Given the description of an element on the screen output the (x, y) to click on. 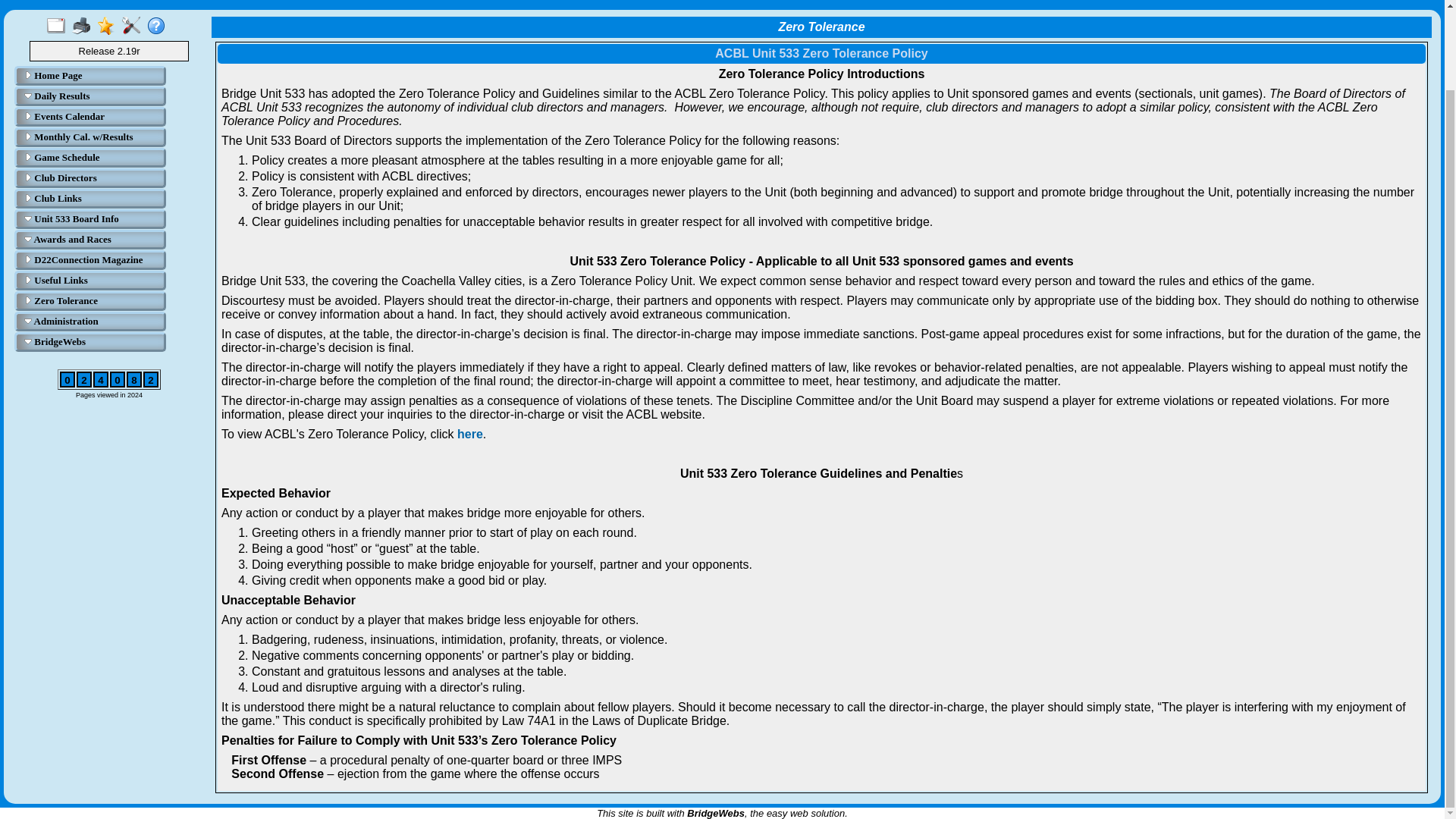
 Club Links (92, 198)
Full Screen (58, 26)
 Daily Results (92, 96)
 Useful Links (92, 280)
Print Page (83, 26)
Web Administration (133, 26)
 BridgeWebs (92, 341)
 Unit 533 Board Info (92, 218)
 Awards and Races (92, 239)
